Given the description of an element on the screen output the (x, y) to click on. 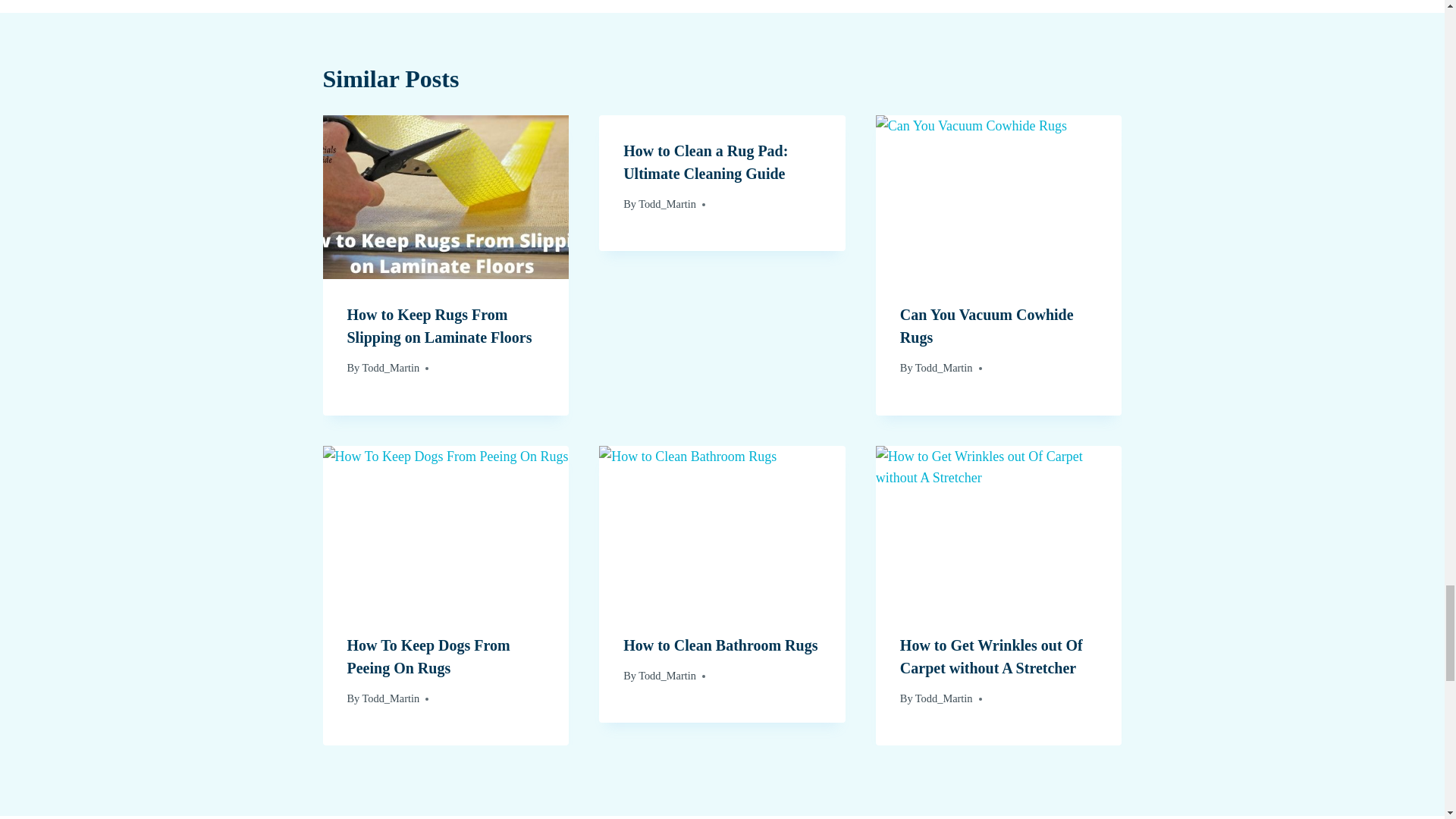
How to Keep Rugs From Slipping on Laminate Floors (439, 325)
How to Clean a Rug Pad: Ultimate Cleaning Guide (705, 161)
